Given the description of an element on the screen output the (x, y) to click on. 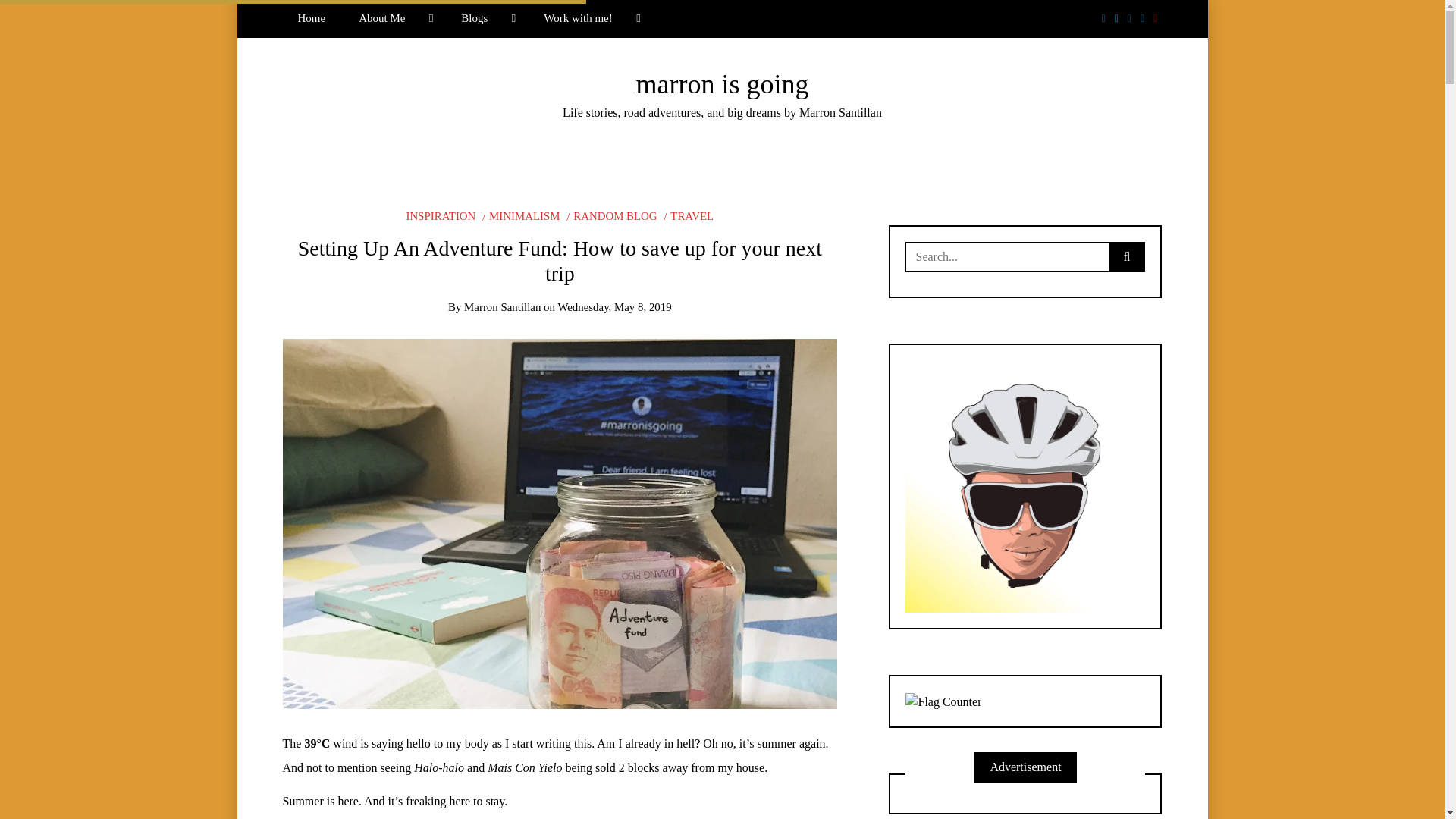
MINIMALISM (520, 215)
Marron Santillan (502, 306)
TRAVEL (688, 215)
Posts by Marron Santillan (502, 306)
Blogs (485, 18)
RANDOM BLOG (611, 215)
INSPIRATION (441, 215)
Wednesday, May 8, 2019 (614, 306)
Home (311, 18)
Work with me! (588, 18)
About Me (392, 18)
marron is going (721, 83)
